Given the description of an element on the screen output the (x, y) to click on. 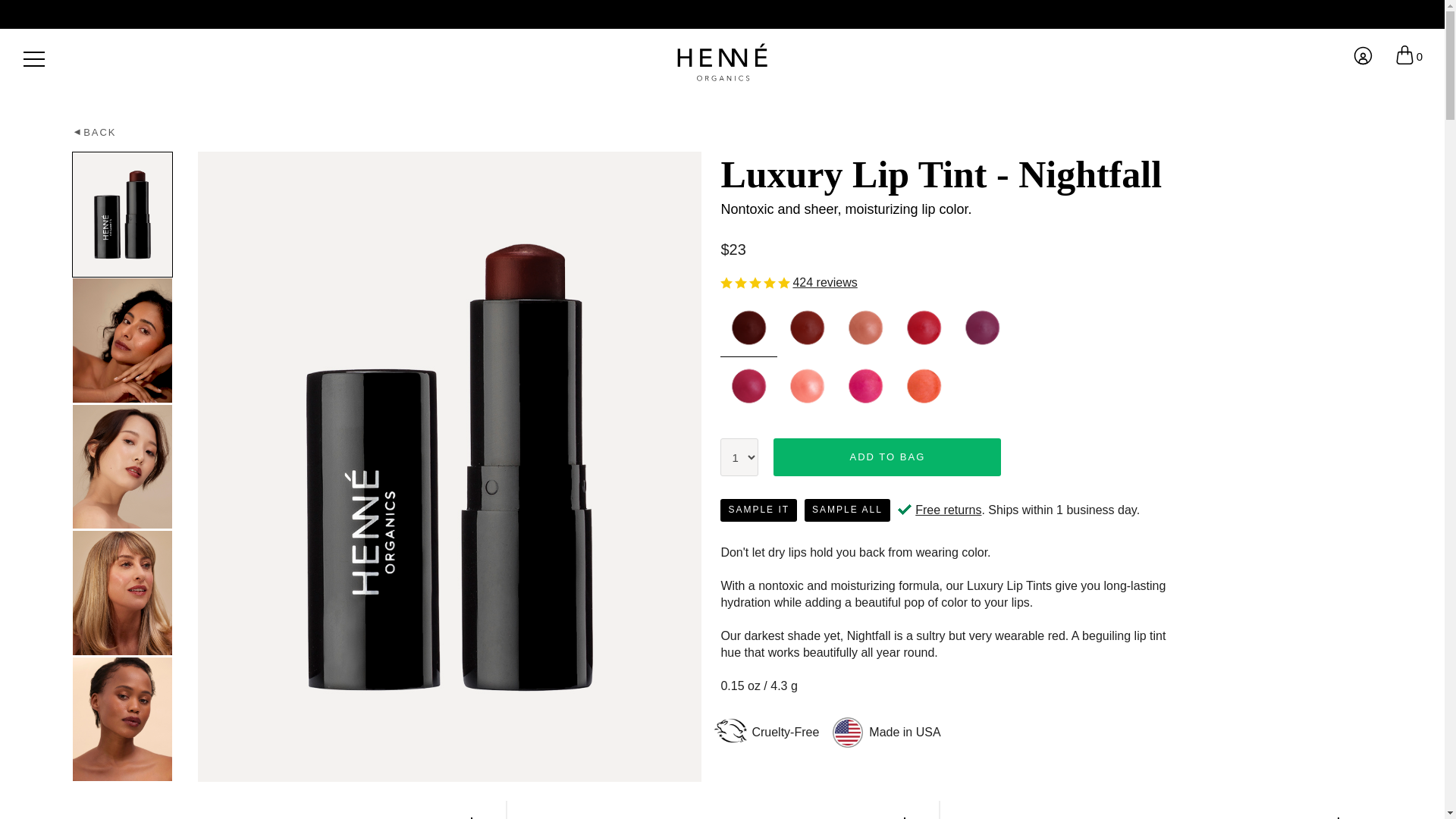
Luxury Lip Tint - Blissful (748, 386)
DIRECTIONS (296, 809)
Luxury Lip Tint - Intrigue (806, 327)
Luxury Lip Tint - Bare (865, 327)
Luxury Lip Tint - Muse (981, 327)
SAMPLE IT (758, 509)
SAMPLE ALL (847, 509)
Luxury Lip Tint - Azalea (865, 386)
Luxury Lip Tint - Nightfall (748, 327)
0 (1408, 55)
